Given the description of an element on the screen output the (x, y) to click on. 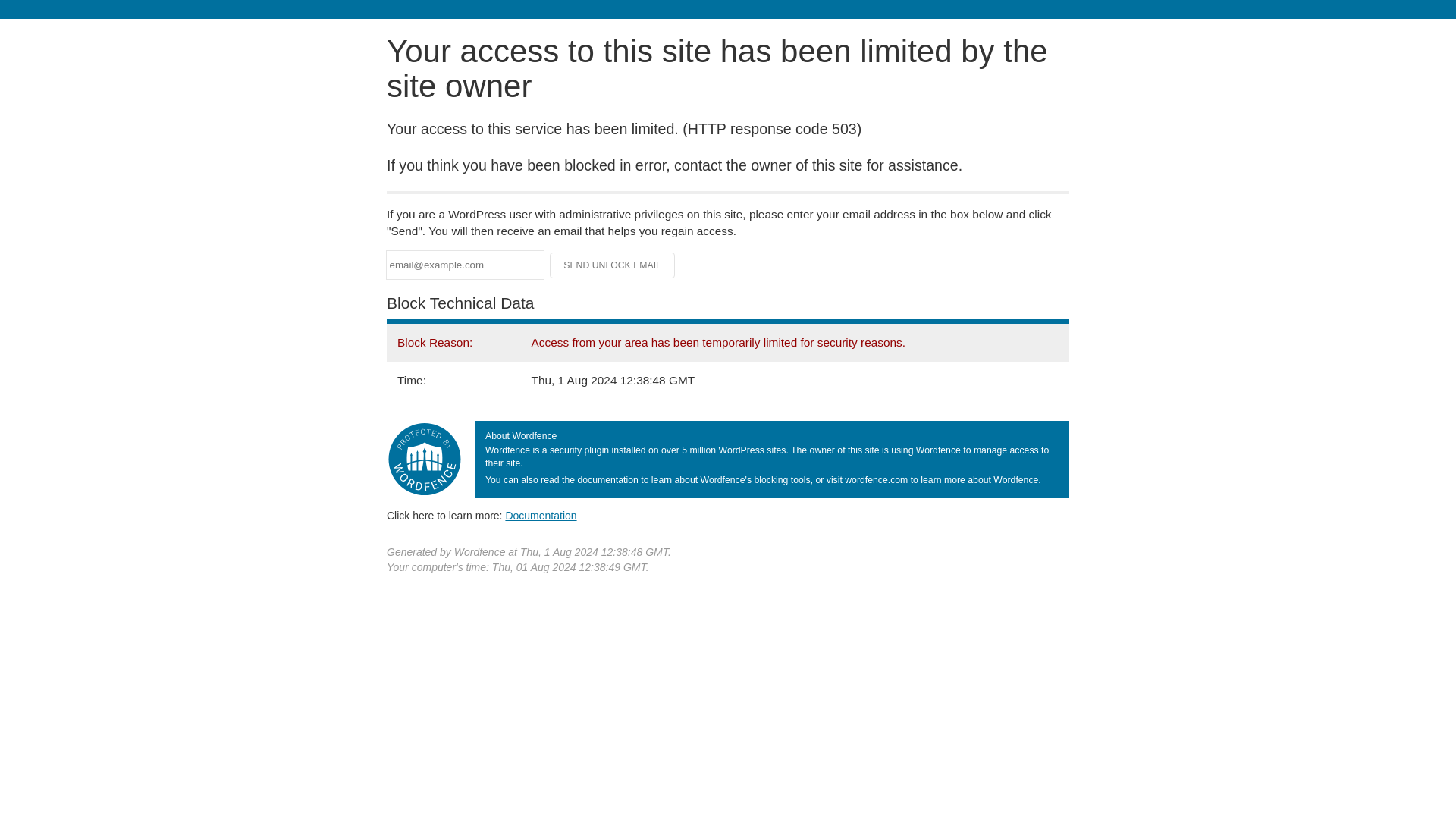
Send Unlock Email (612, 265)
Documentation (540, 515)
Send Unlock Email (612, 265)
